Given the description of an element on the screen output the (x, y) to click on. 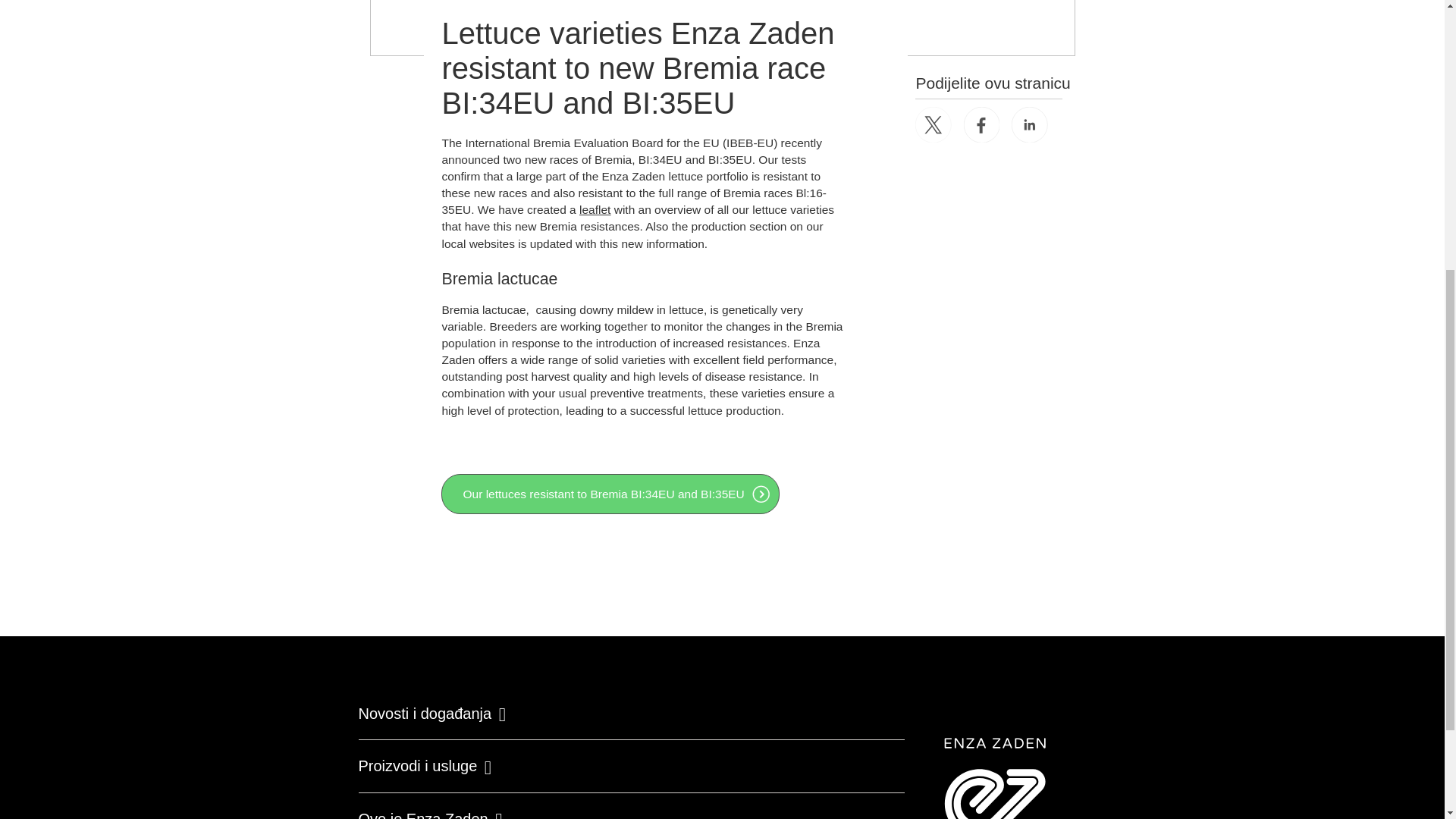
LinkedIn icon (1029, 125)
